Given the description of an element on the screen output the (x, y) to click on. 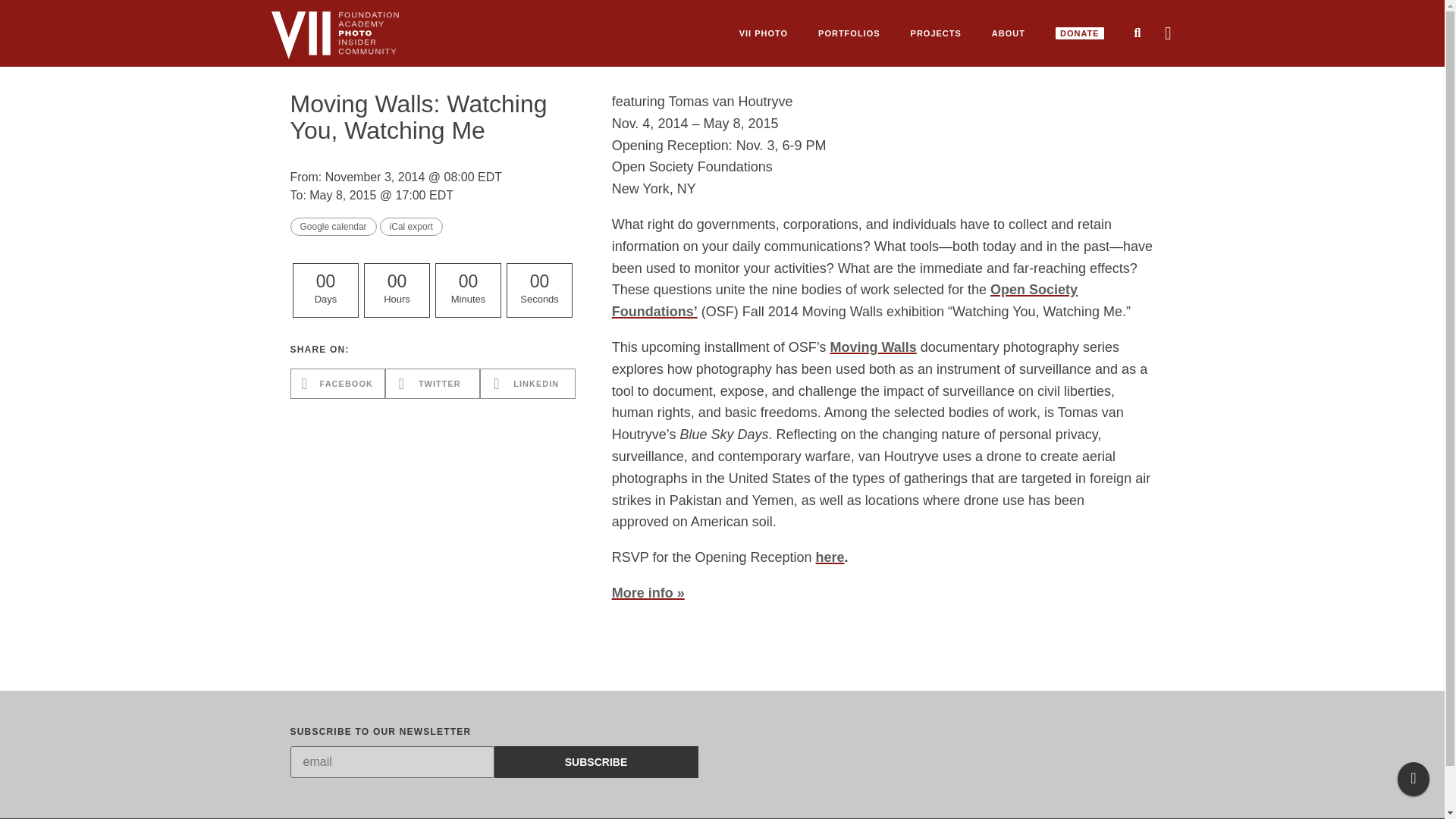
Google calendar (332, 226)
PROJECTS (936, 33)
Moving Walls (872, 346)
PORTFOLIOS (849, 33)
DONATE (1079, 33)
SUBSCRIBE (596, 762)
Add to Google Calendar (332, 226)
here (829, 557)
VII PHOTO (762, 33)
iCal export (411, 226)
Export as iCal (411, 226)
ABOUT (1007, 33)
